Given the description of an element on the screen output the (x, y) to click on. 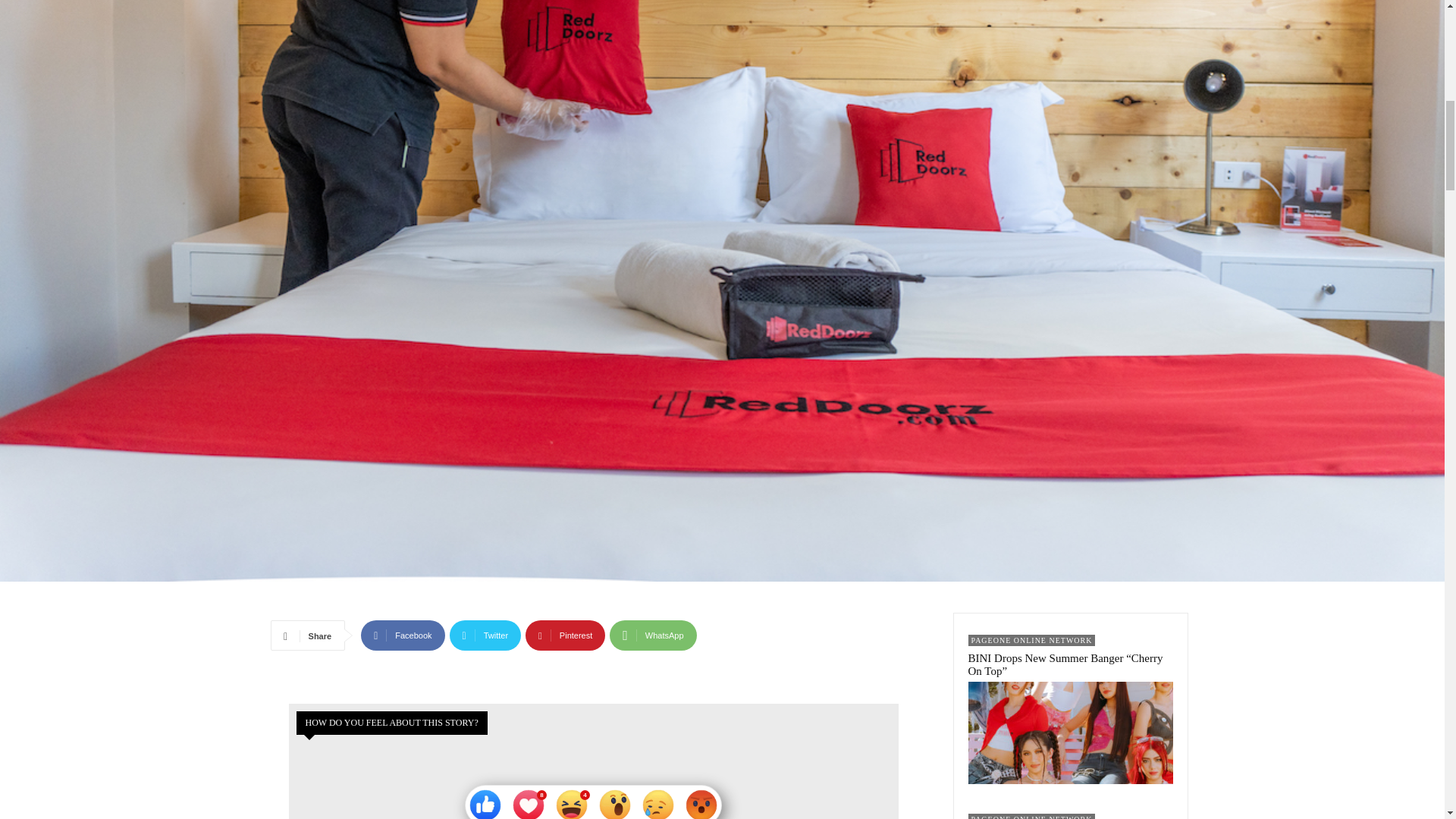
Facebook (402, 634)
Twitter (485, 634)
Facebook (402, 634)
Pinterest (565, 634)
WhatsApp (652, 634)
PAGEONE ONLINE NETWORK (1031, 640)
Twitter (485, 634)
WhatsApp (652, 634)
Pinterest (565, 634)
